Given the description of an element on the screen output the (x, y) to click on. 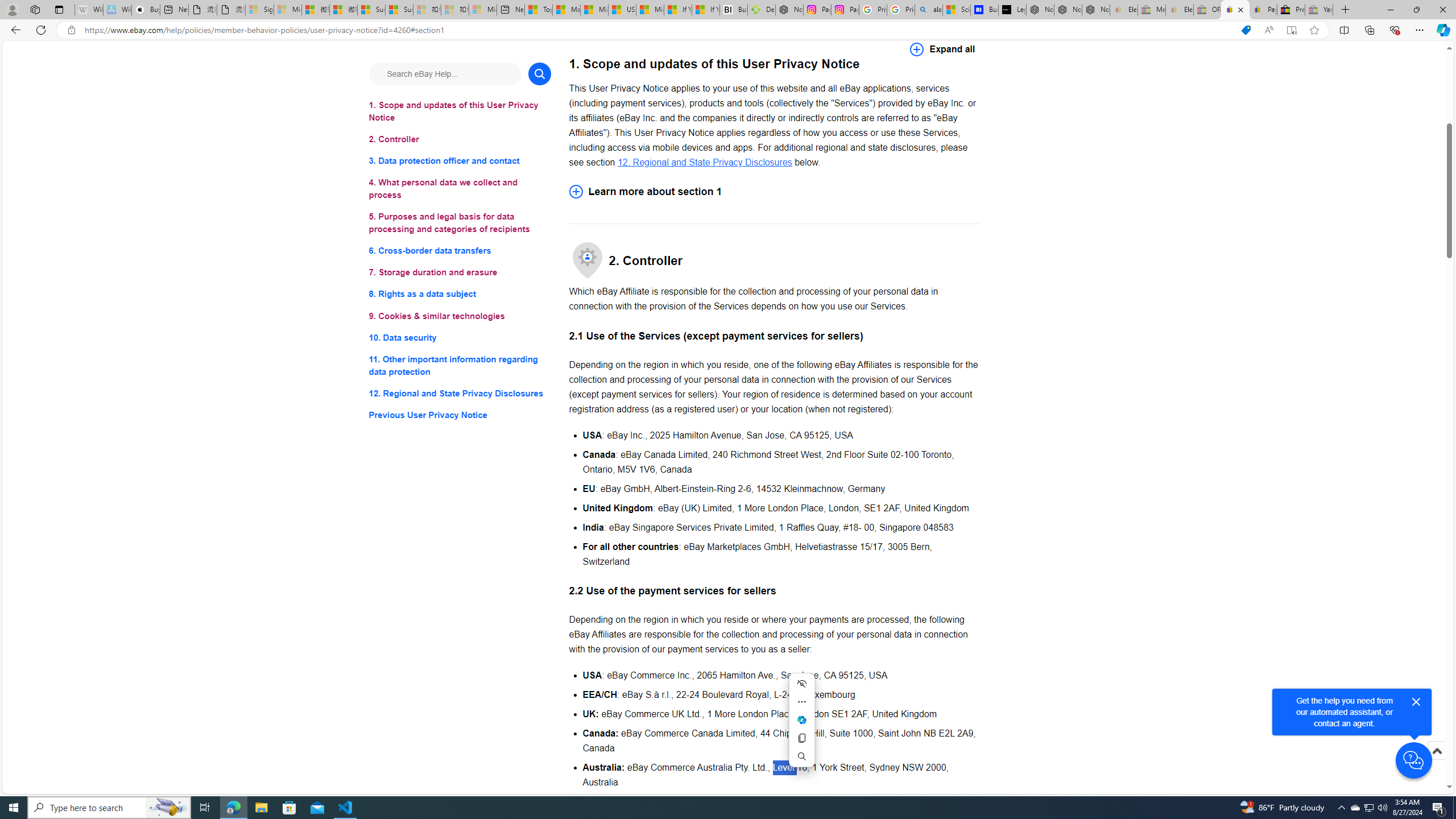
11. Other important information regarding data protection (459, 365)
This site has coupons! Shopping in Microsoft Edge (1245, 29)
7. Storage duration and erasure (459, 272)
